Given the description of an element on the screen output the (x, y) to click on. 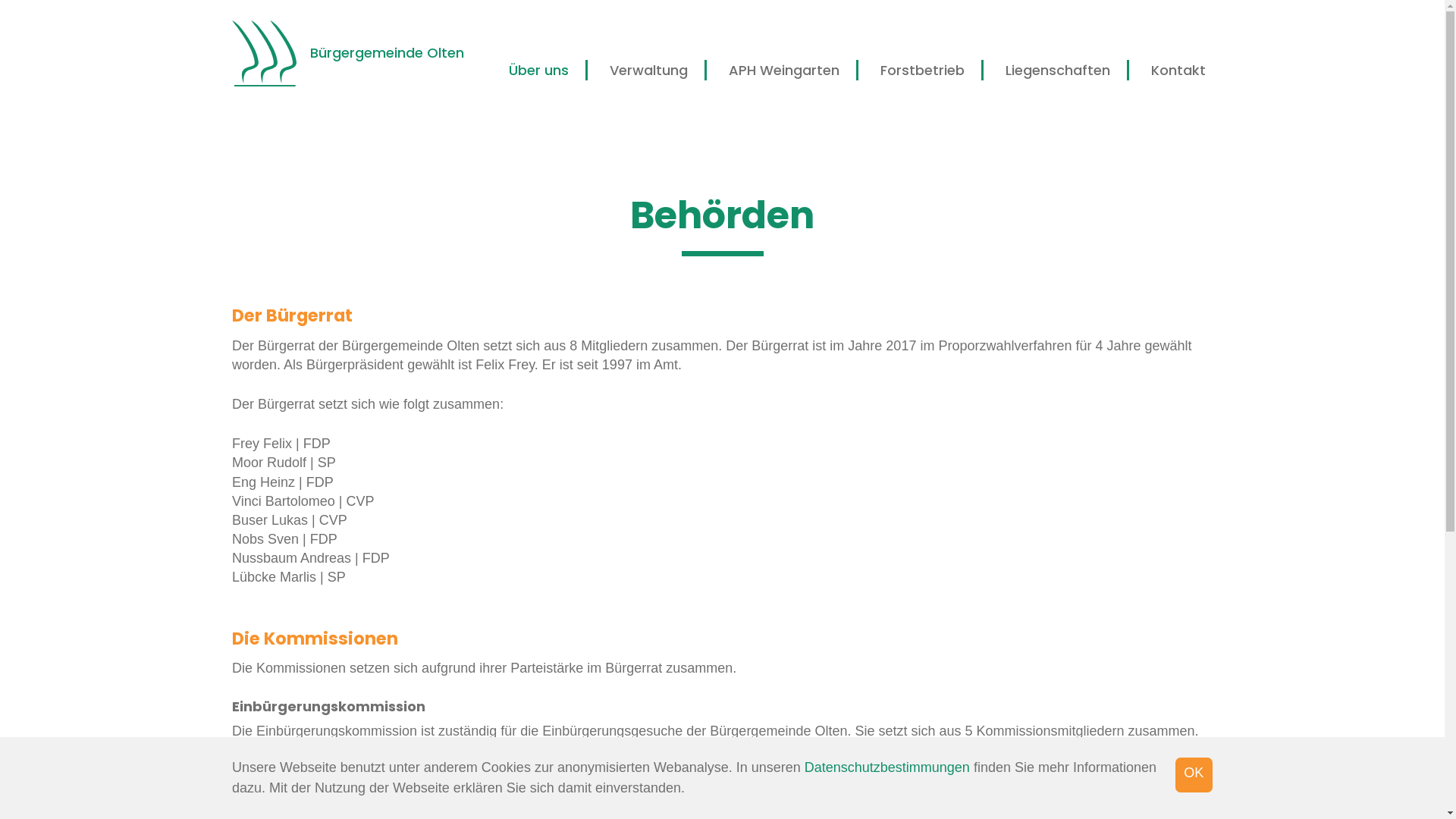
Forstbetrieb Element type: text (922, 69)
Verwaltung Element type: text (648, 69)
Kontakt Element type: text (1178, 69)
APH Weingarten Element type: text (783, 69)
Liegenschaften Element type: text (1057, 69)
Datenschutzbestimmungen Element type: text (886, 767)
OK Element type: text (1193, 774)
